Given the description of an element on the screen output the (x, y) to click on. 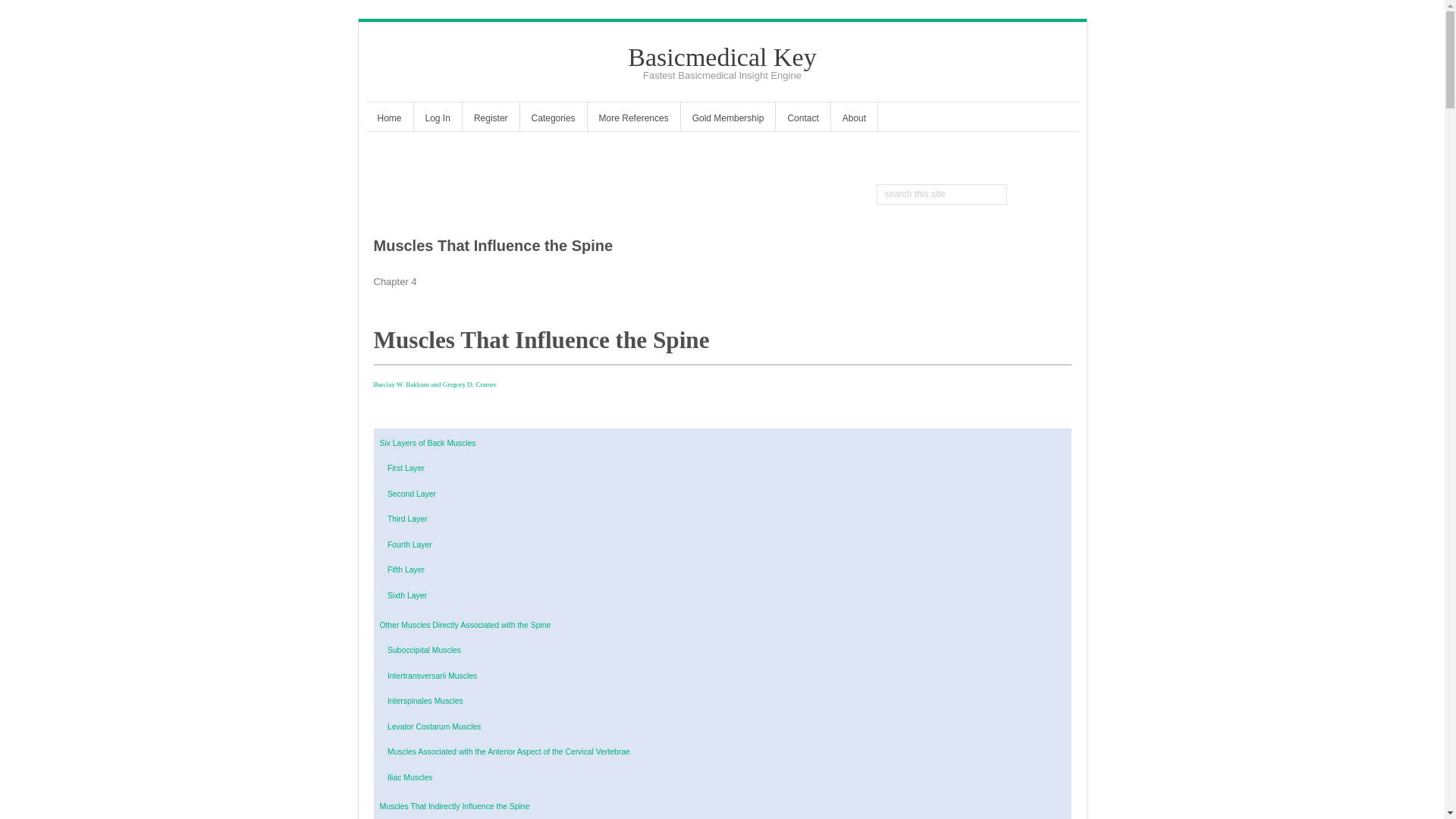
About (854, 119)
Basicmedical Key (721, 57)
Contact (802, 119)
Log In (437, 119)
Barclay W. Bakkum and (407, 384)
Basicmedical Key (721, 57)
Gold Membership (728, 119)
Categories (552, 119)
Register (491, 119)
Home (388, 119)
More References (633, 119)
